Given the description of an element on the screen output the (x, y) to click on. 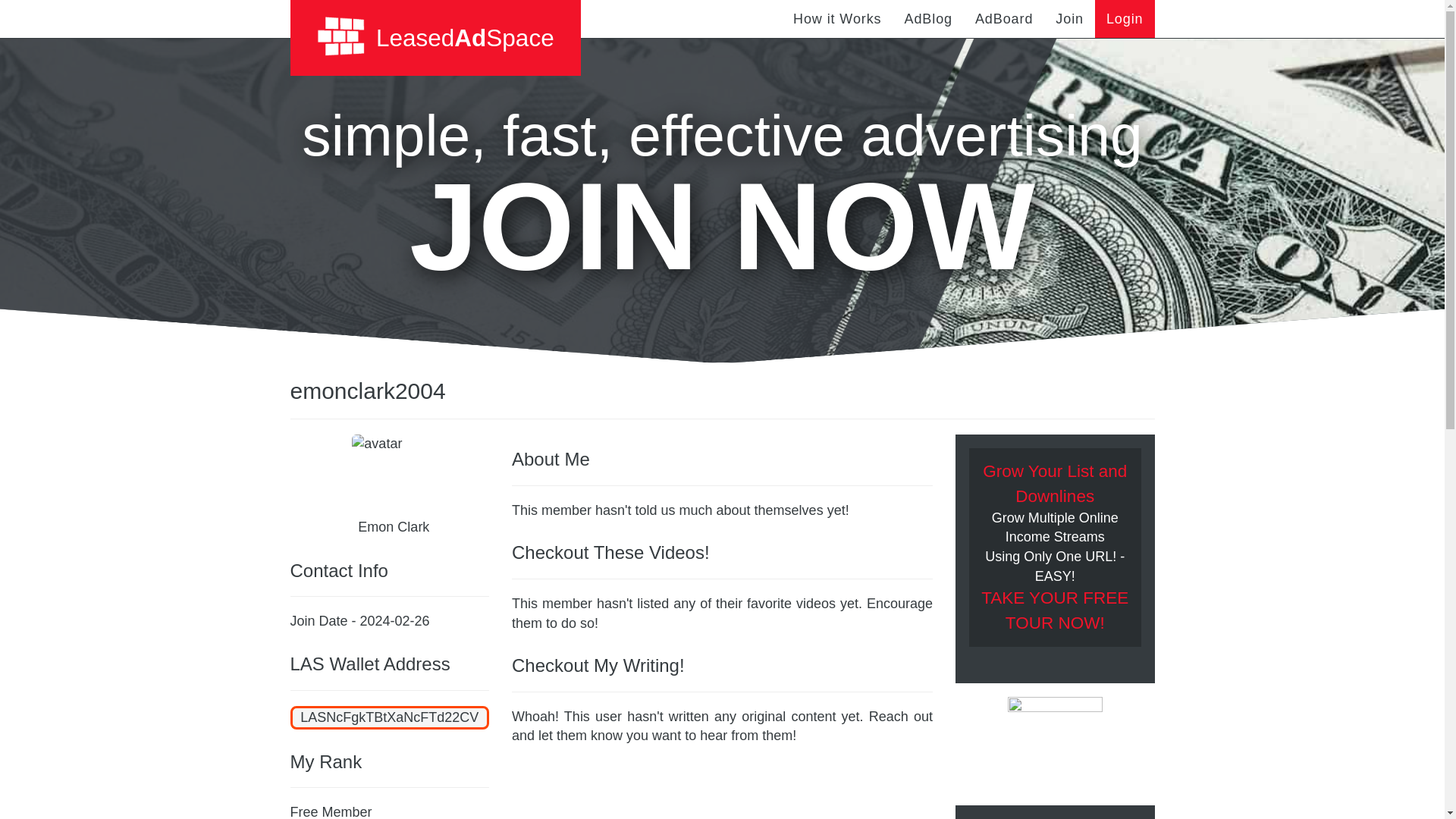
LASNcFgkTBtXaNcFTd22CV (389, 717)
AdBlog (928, 18)
How it Works (836, 18)
LeasedAdSpace (434, 38)
Login (1124, 18)
Join (1068, 18)
AdBoard (1003, 18)
